Given the description of an element on the screen output the (x, y) to click on. 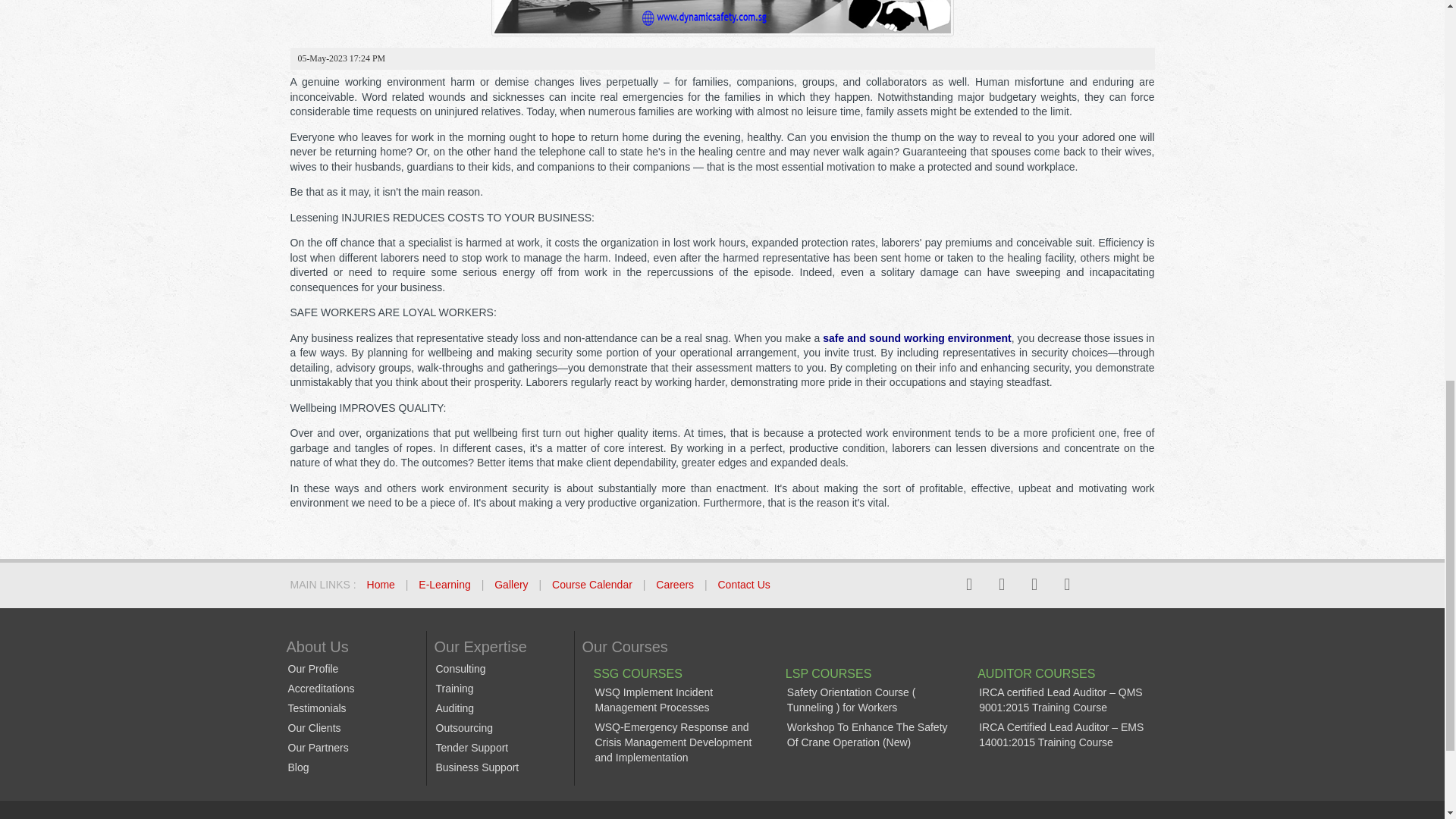
safe and sound working environment (916, 337)
